Given the description of an element on the screen output the (x, y) to click on. 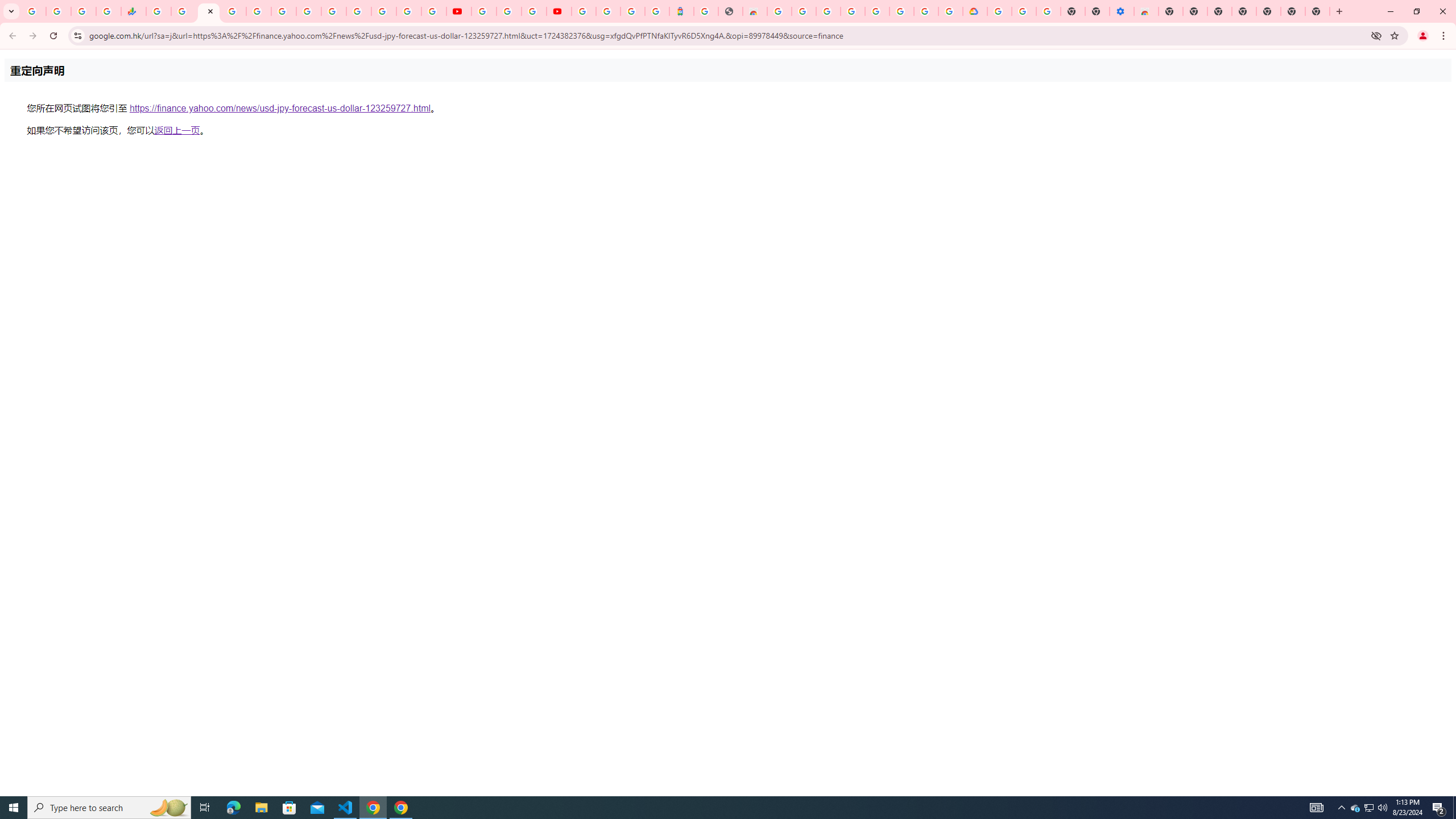
Sign in - Google Accounts (999, 11)
Privacy Checkup (433, 11)
Android TV Policies and Guidelines - Transparency Center (308, 11)
New Tab (1317, 11)
